Given the description of an element on the screen output the (x, y) to click on. 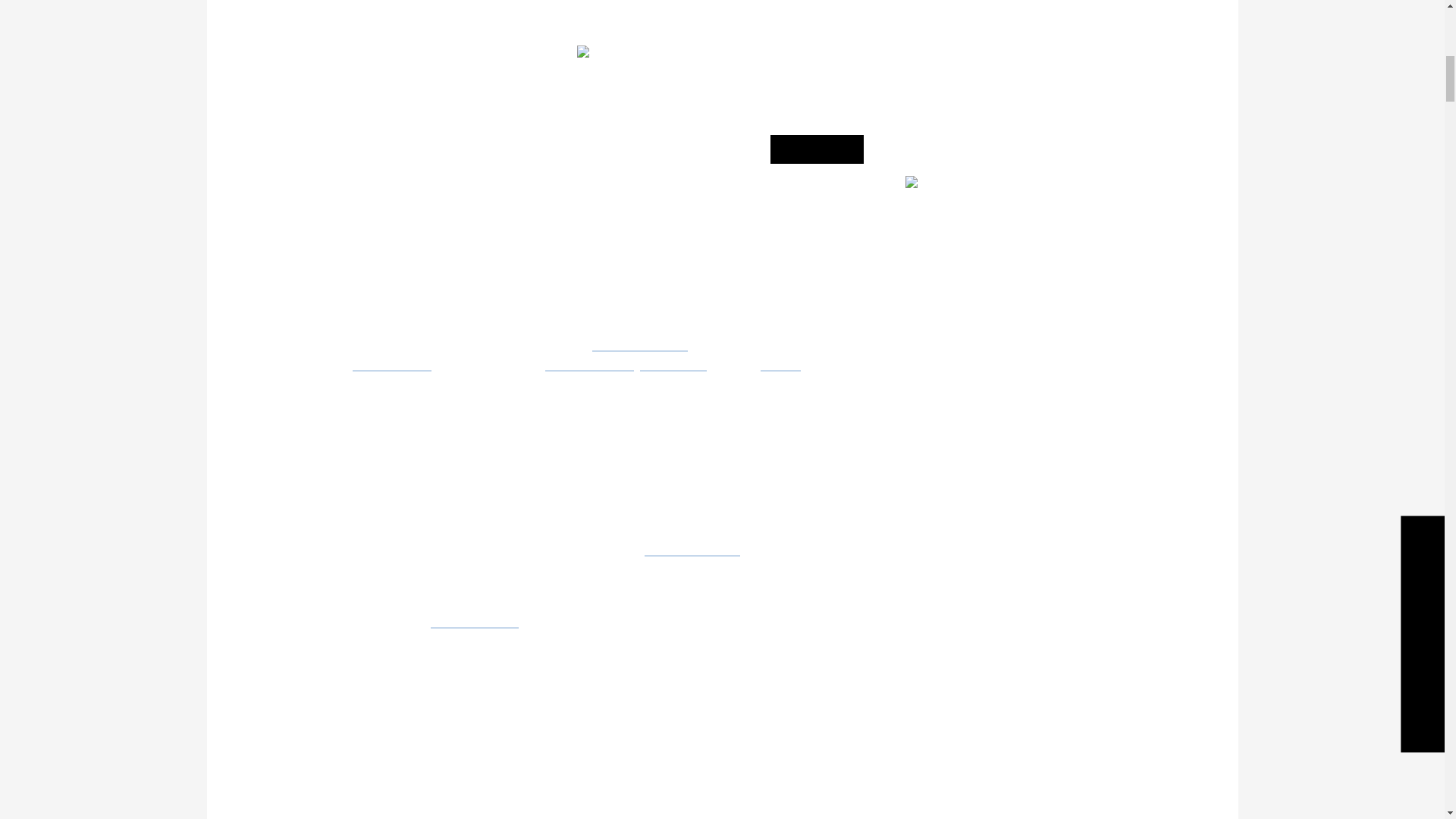
Forever Soles (673, 361)
Grace Loves Lace (474, 618)
Fig Tree Restaurant (692, 546)
Le Rose (780, 361)
Shane Shepherd (391, 361)
Fig Tree Restaurant (639, 342)
Grace Loves Lace (588, 361)
